Given the description of an element on the screen output the (x, y) to click on. 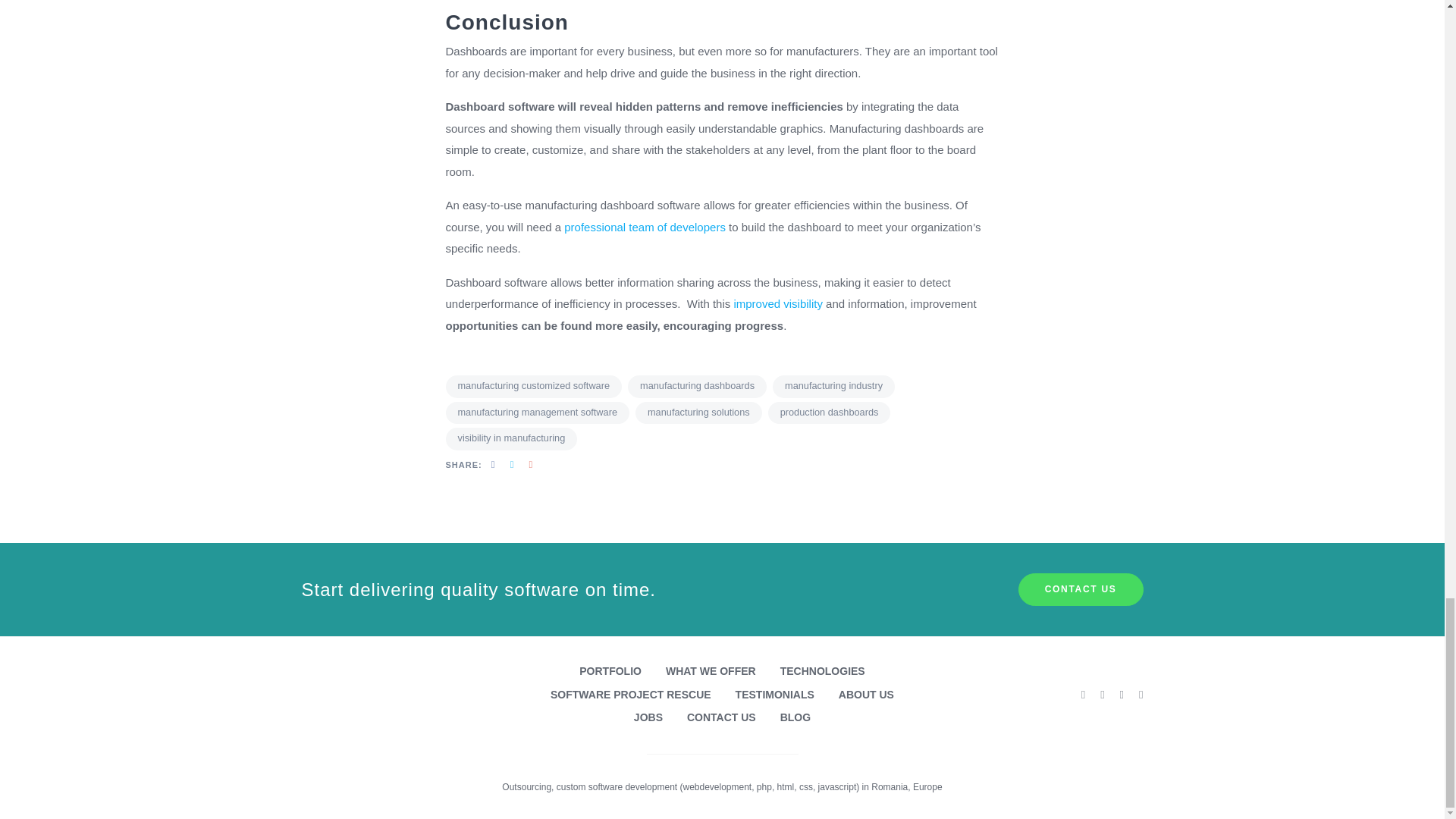
PORTFOLIO (610, 671)
CONTACT US (1079, 589)
WHAT WE OFFER (710, 671)
BLOG (795, 717)
JOBS (647, 717)
manufacturing customized software (534, 386)
improved visibility (777, 303)
manufacturing industry (834, 386)
manufacturing solutions (697, 413)
manufacturing management software (537, 413)
visibility in manufacturing (511, 438)
professional team of developers (646, 226)
manufacturing dashboards (697, 386)
TESTIMONIALS (774, 694)
ABOUT US (865, 694)
